Given the description of an element on the screen output the (x, y) to click on. 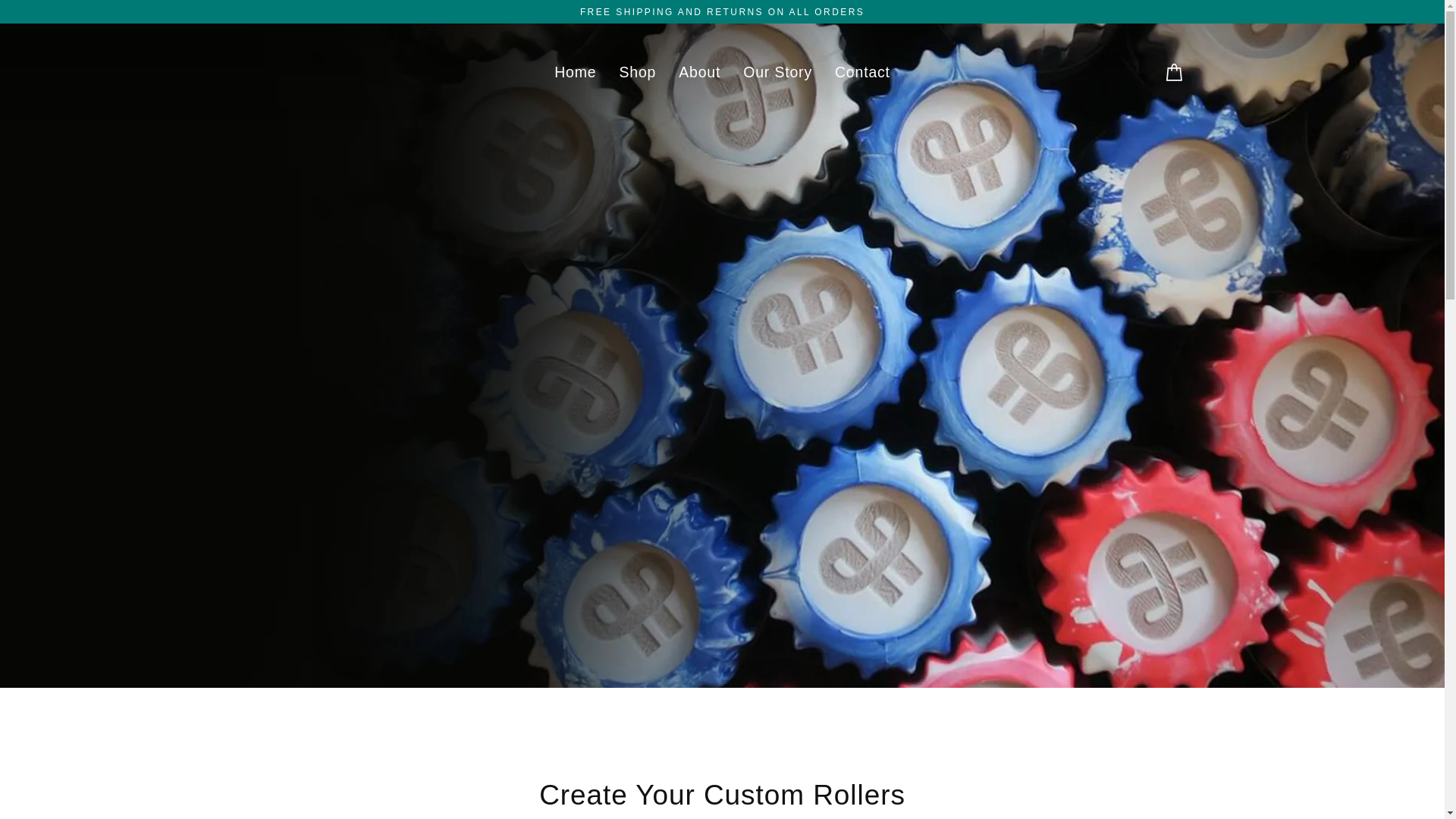
Cart (1173, 72)
Our Story (778, 72)
Home (575, 72)
Shop (636, 72)
Contact (862, 72)
About (699, 72)
